Given the description of an element on the screen output the (x, y) to click on. 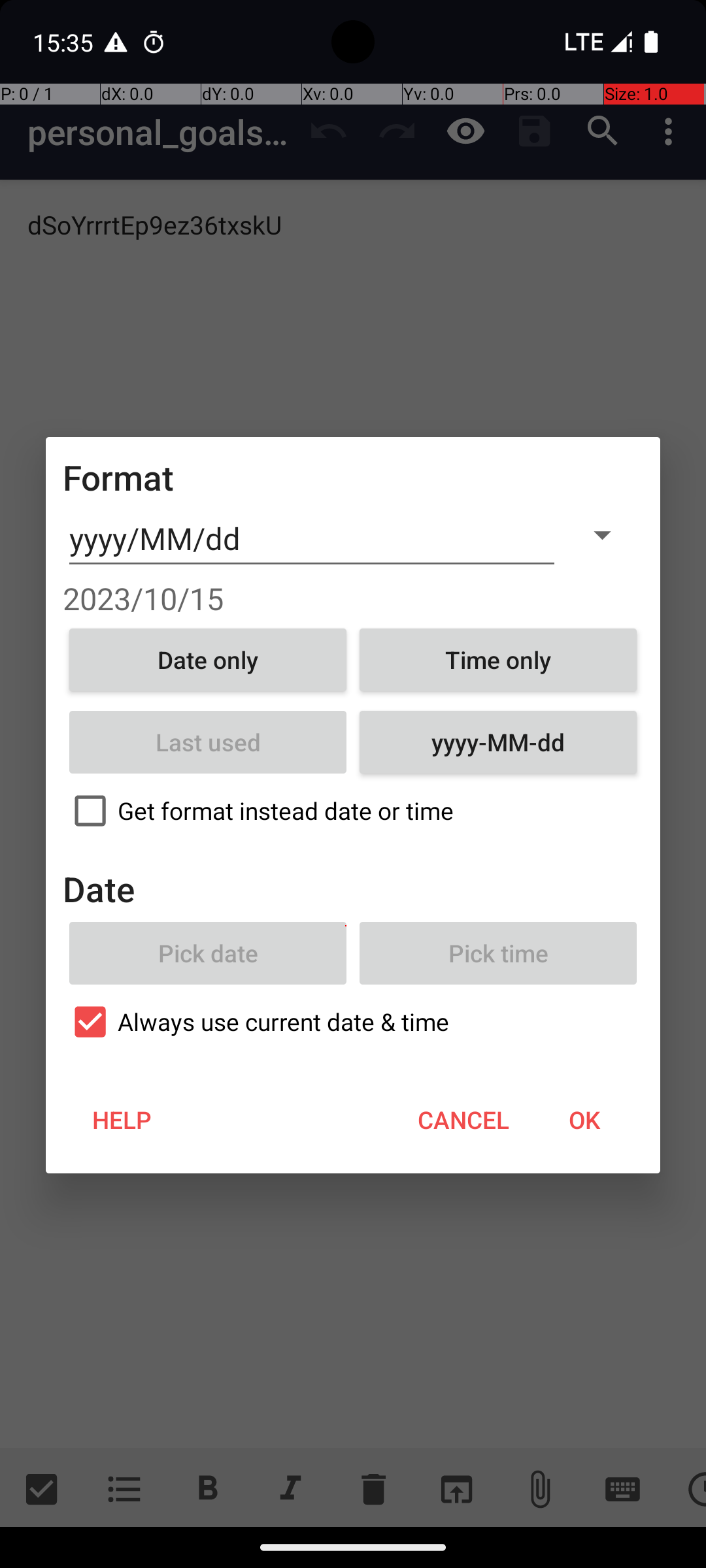
Format Element type: android.widget.TextView (118, 477)
yyyy/MM/dd Element type: android.widget.EditText (311, 538)
Choose format Element type: android.widget.TextView (601, 534)
2023/10/15 Element type: android.widget.TextView (352, 597)
Date only Element type: android.widget.Button (207, 659)
Time only Element type: android.widget.Button (498, 659)
Last used Element type: android.widget.Button (207, 742)
yyyy-MM-dd Element type: android.widget.Button (498, 742)
Get format instead date or time Element type: android.widget.CheckBox (352, 810)
Pick date Element type: android.widget.Button (207, 953)
Pick time Element type: android.widget.Button (498, 953)
Always use current date & time Element type: android.widget.CheckBox (352, 1021)
HELP Element type: android.widget.Button (121, 1119)
